Given the description of an element on the screen output the (x, y) to click on. 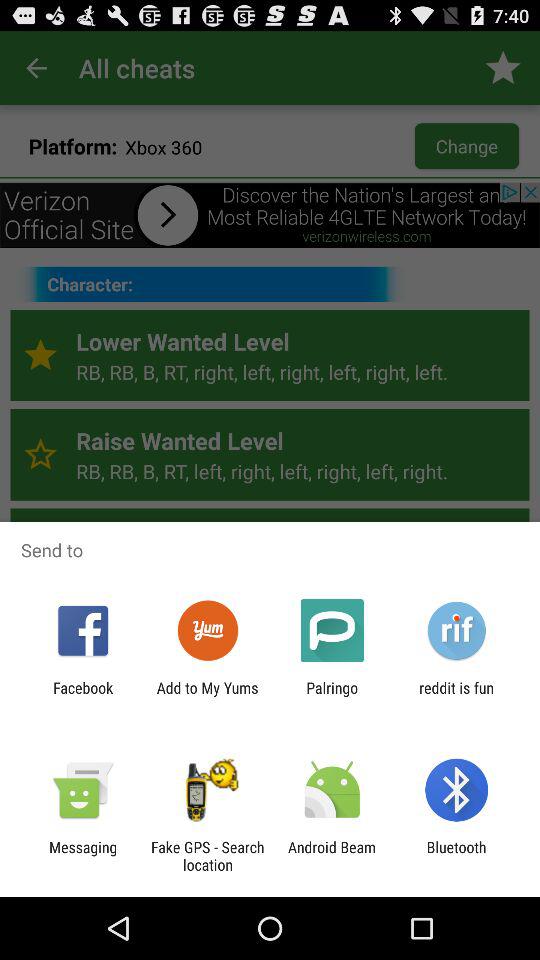
press item to the left of palringo app (207, 696)
